Given the description of an element on the screen output the (x, y) to click on. 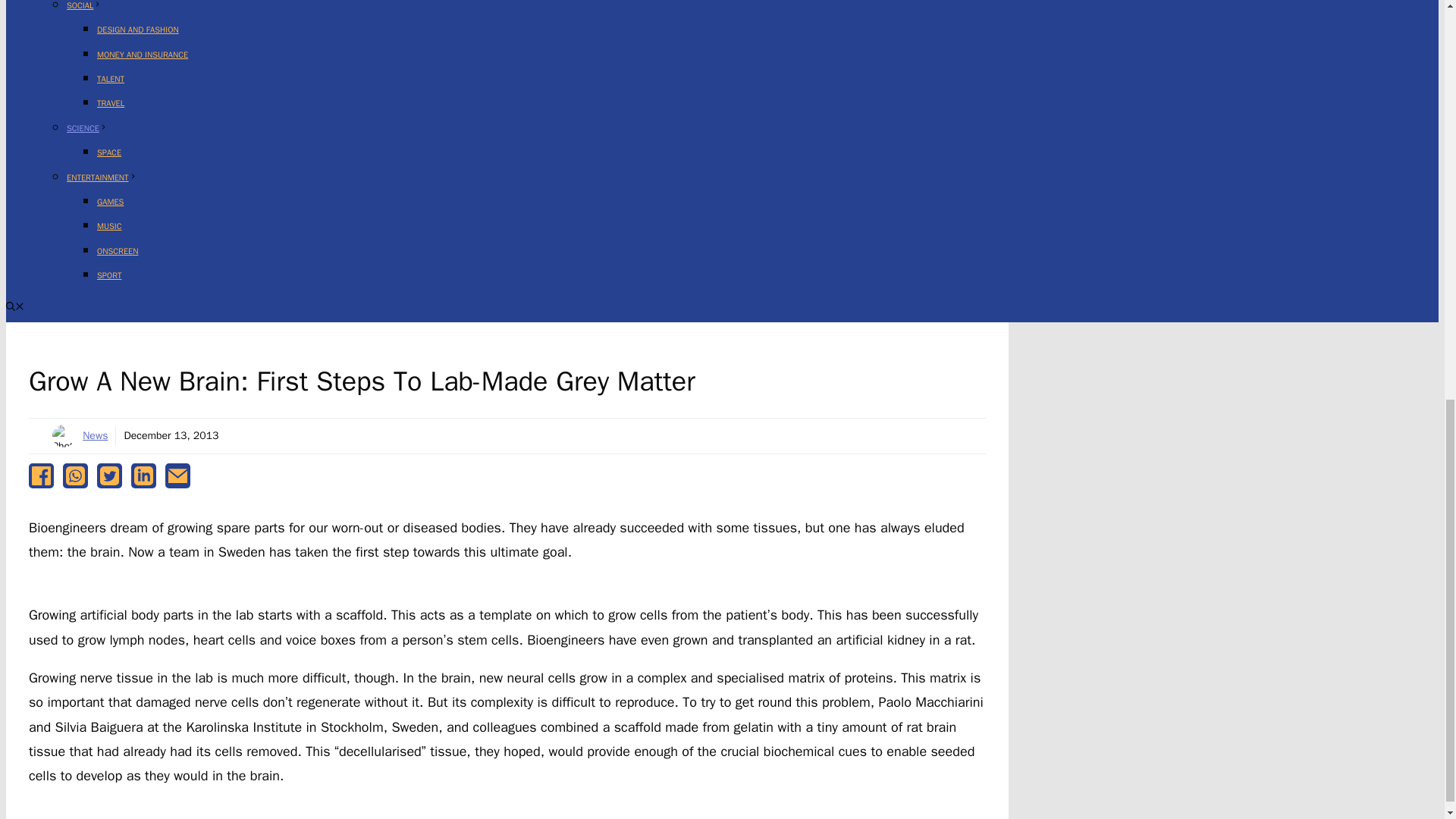
MONEY AND INSURANCE (142, 54)
SCIENCE (86, 127)
MUSIC (109, 225)
SOCIAL (83, 5)
DESIGN AND FASHION (138, 29)
GAMES (110, 201)
TALENT (110, 78)
ENTERTAINMENT (101, 176)
TRAVEL (110, 102)
SPACE (108, 152)
